Given the description of an element on the screen output the (x, y) to click on. 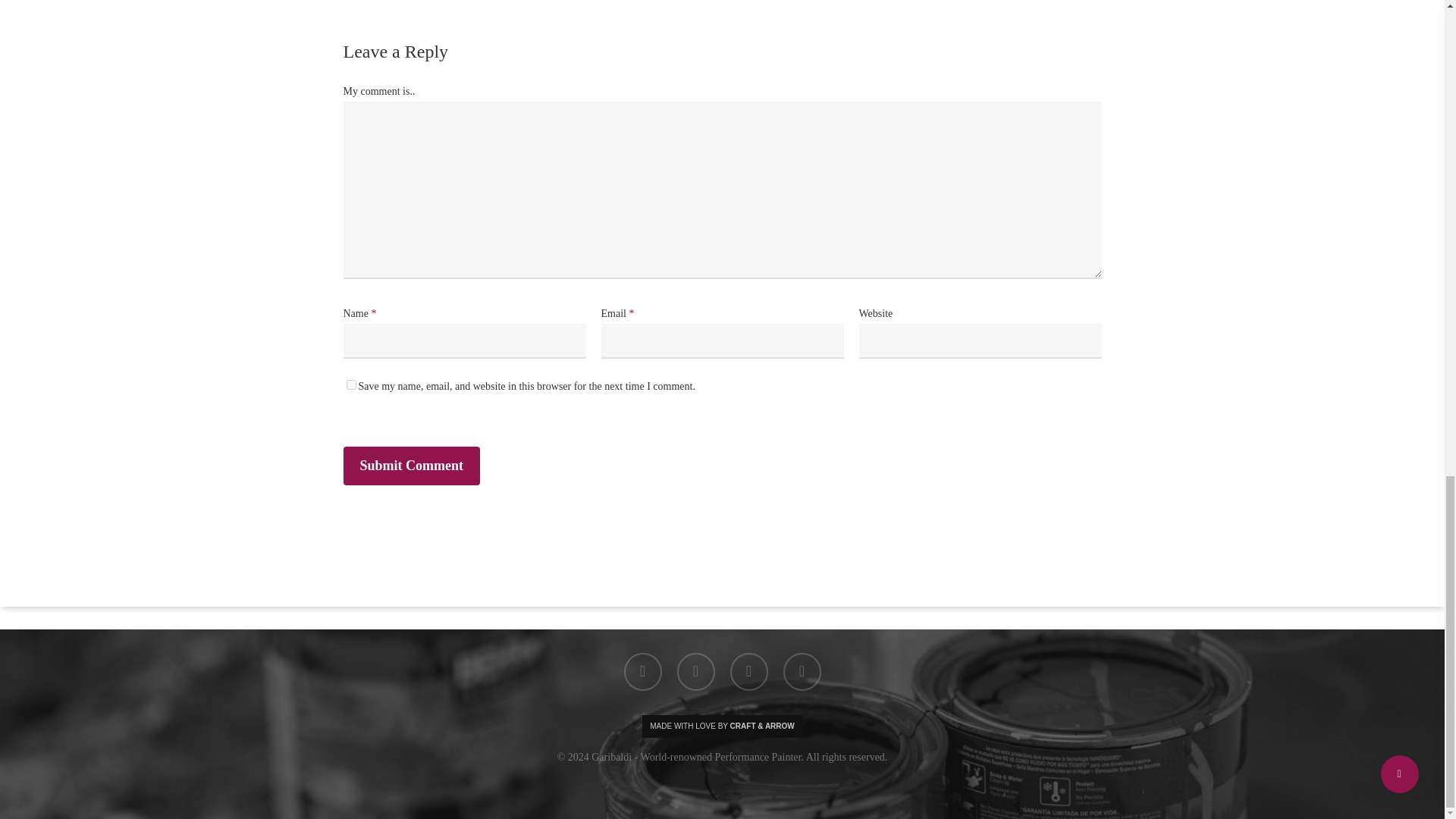
Submit Comment (411, 465)
yes (350, 384)
Submit Comment (411, 465)
